Given the description of an element on the screen output the (x, y) to click on. 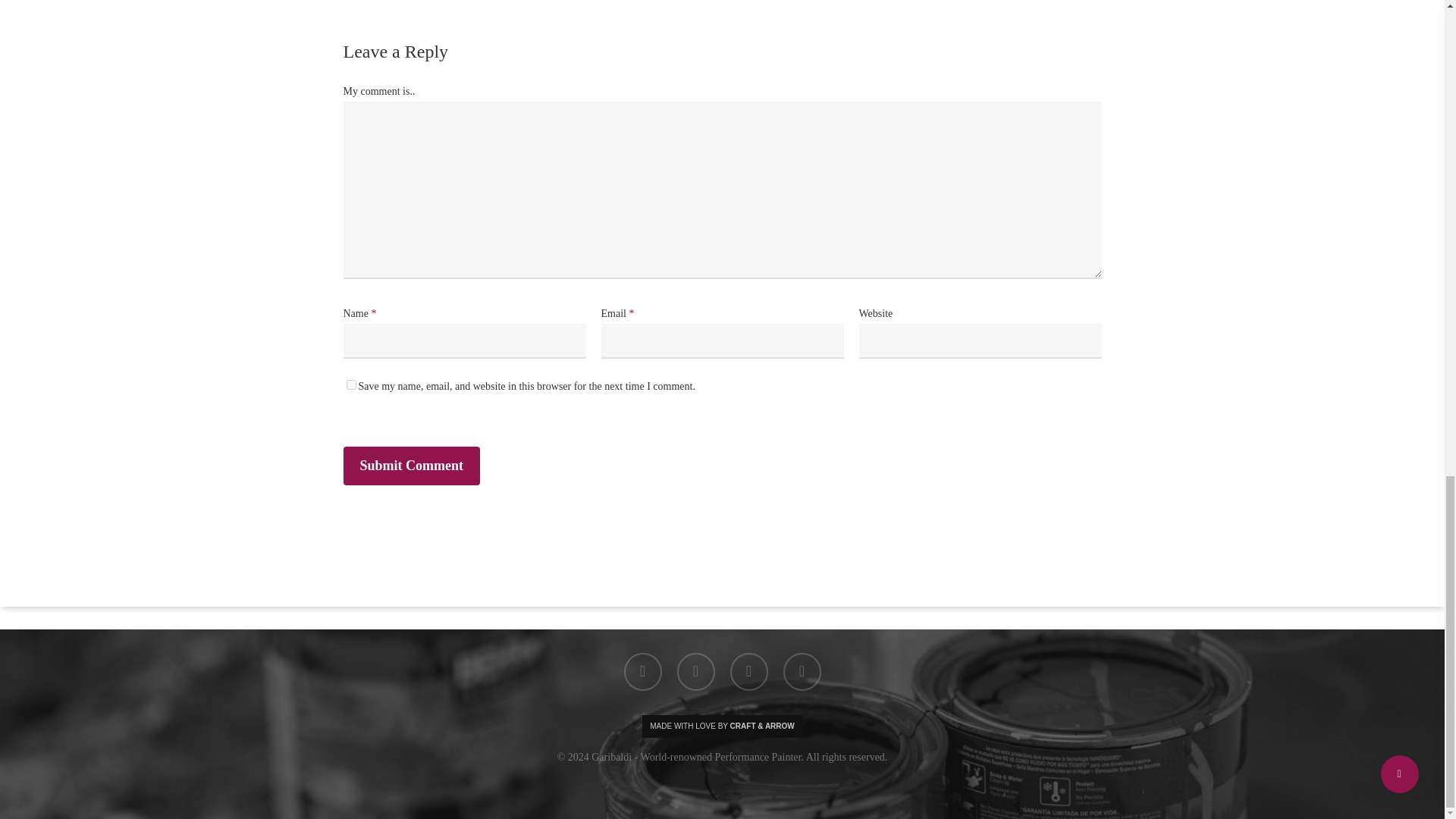
Submit Comment (411, 465)
yes (350, 384)
Submit Comment (411, 465)
